Given the description of an element on the screen output the (x, y) to click on. 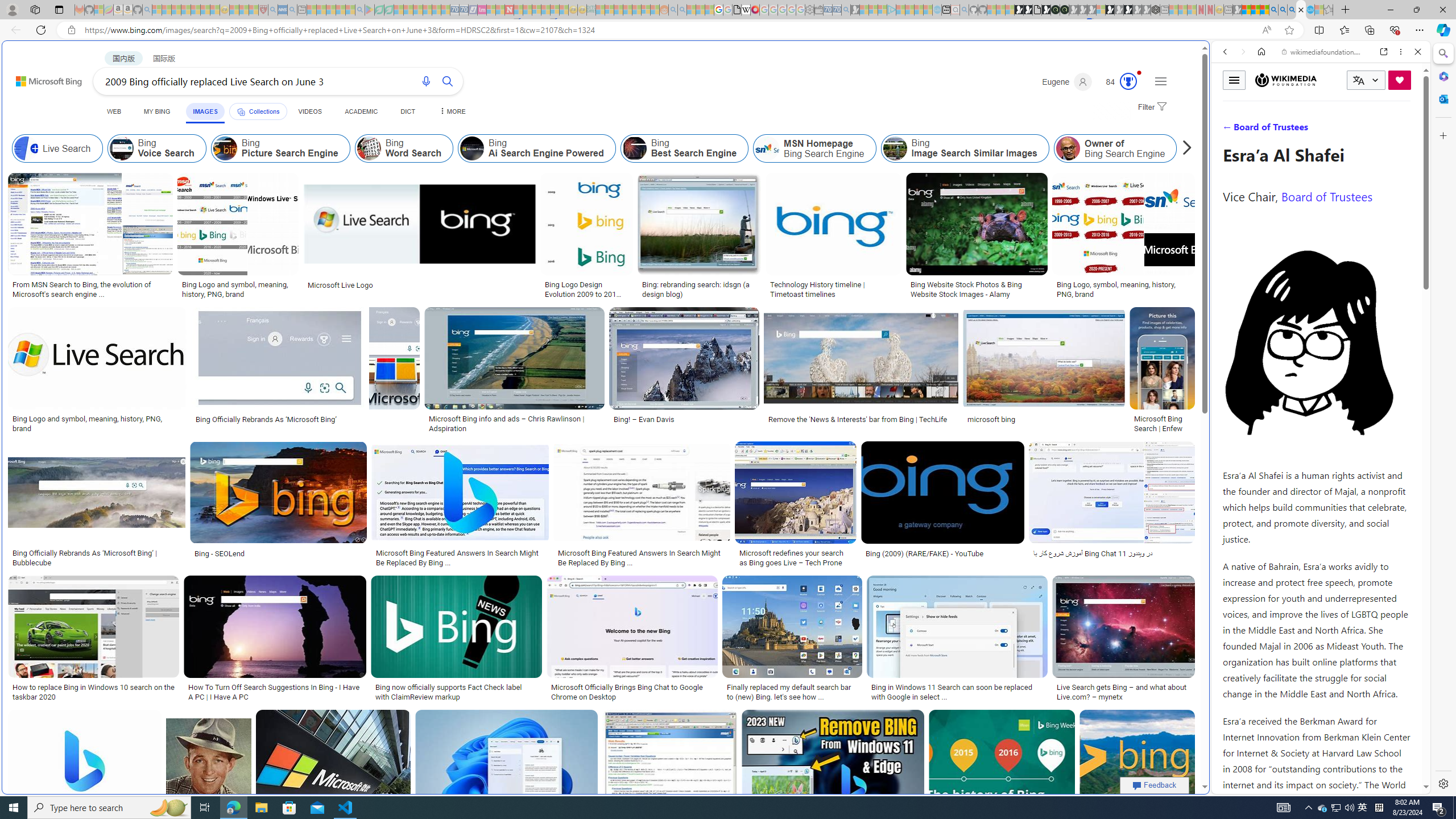
google - Search - Sleeping (359, 9)
Tabs you've opened (885, 151)
Bing Voice Search (121, 148)
MY BING (156, 111)
Search Filter, VIDEOS (1300, 129)
DITOGAMES AG Imprint - Sleeping (590, 9)
